Given the description of an element on the screen output the (x, y) to click on. 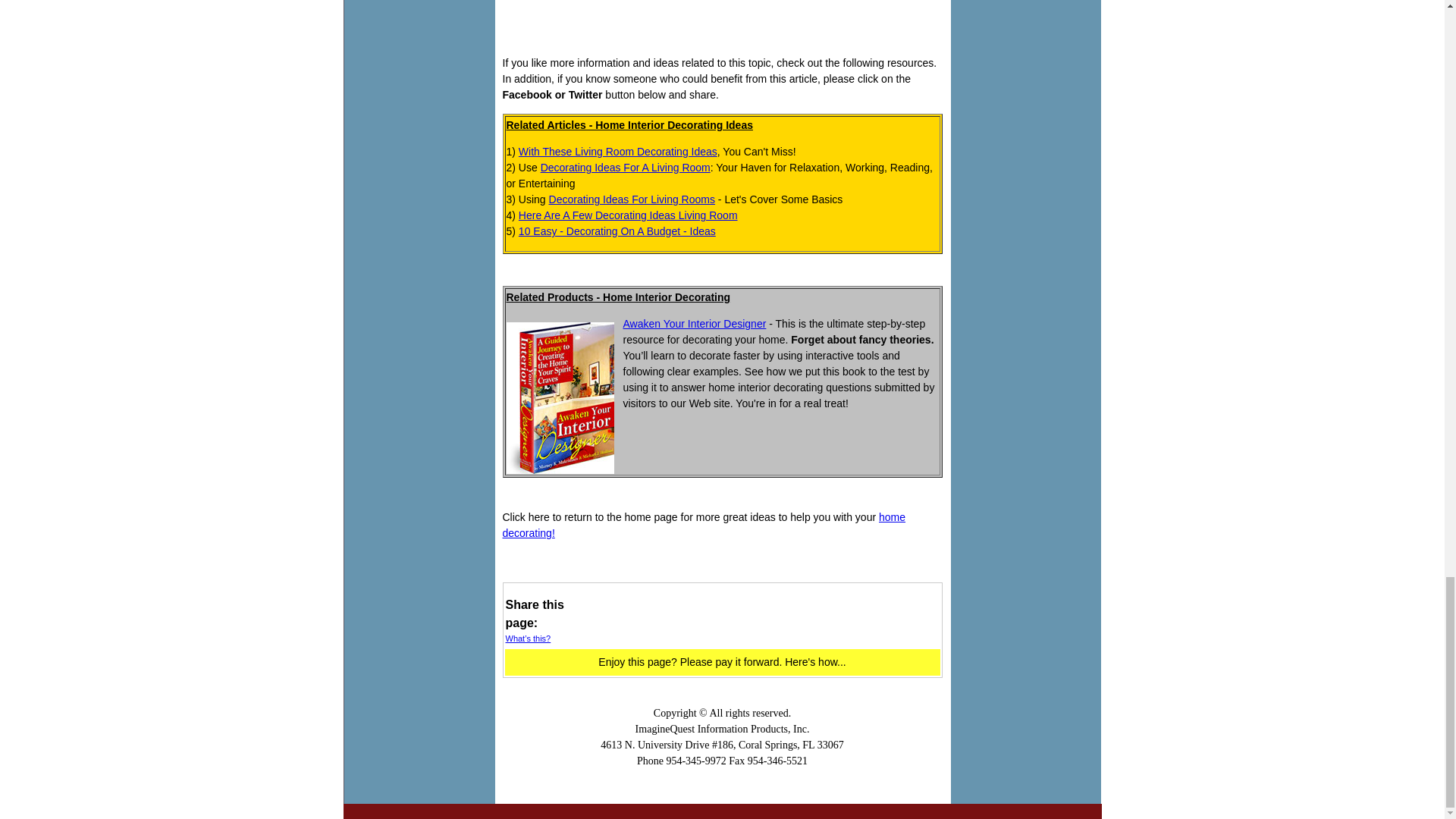
Decorating Ideas For Living Rooms (631, 199)
Awaken Your Interior Designer (695, 323)
Decorating Ideas For A Living Room (625, 167)
10 Easy - Decorating On A Budget - Ideas (617, 231)
With These Living Room Decorating Ideas (617, 151)
home decorating! (703, 524)
Here Are A Few Decorating Ideas Living Room (628, 215)
